Given the description of an element on the screen output the (x, y) to click on. 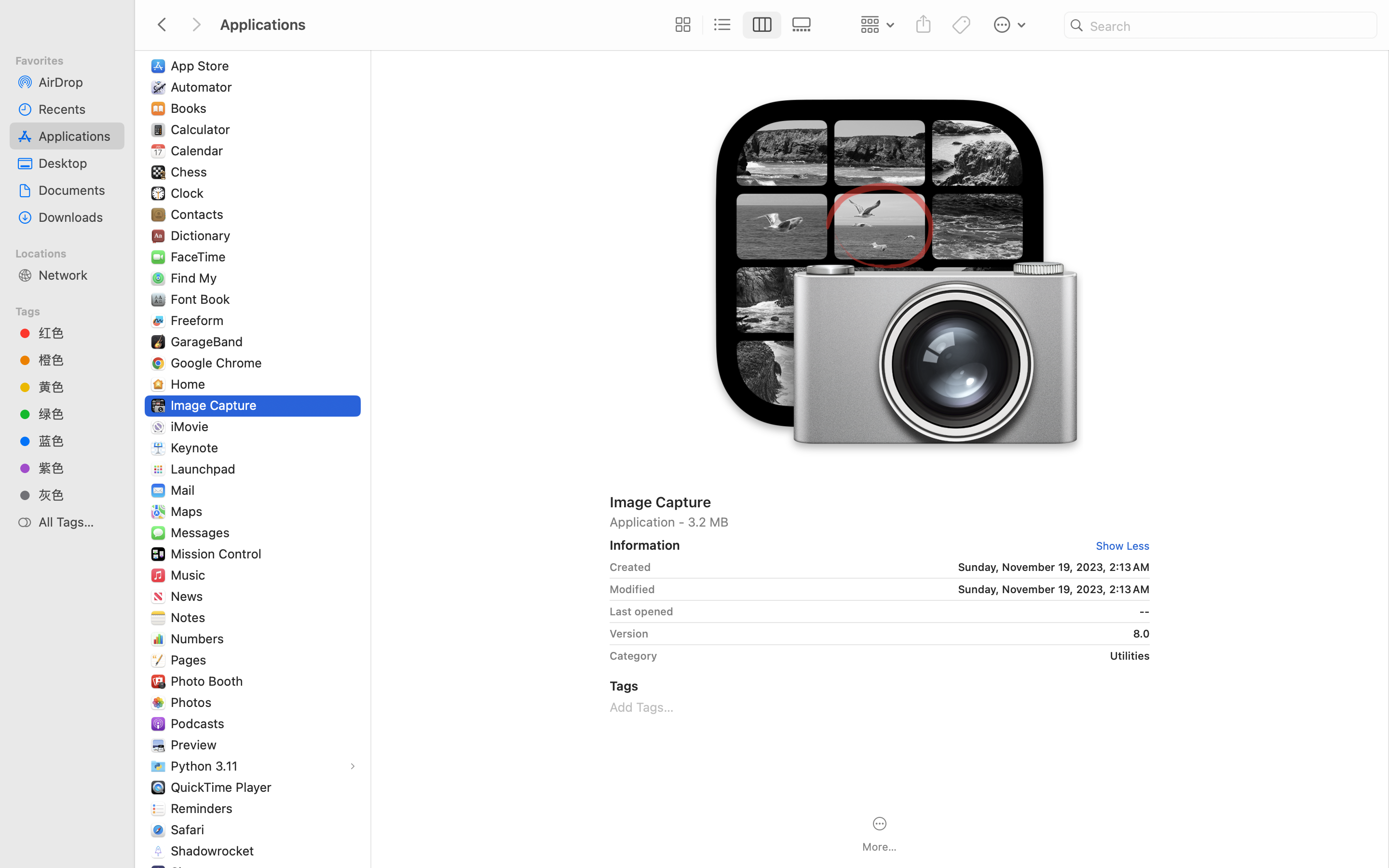
1 Element type: AXRadioButton (762, 24)
Chess Element type: AXTextField (190, 171)
Google Chrome Element type: AXTextField (218, 362)
-- Element type: AXStaticText (914, 611)
黄色 Element type: AXStaticText (77, 386)
